Given the description of an element on the screen output the (x, y) to click on. 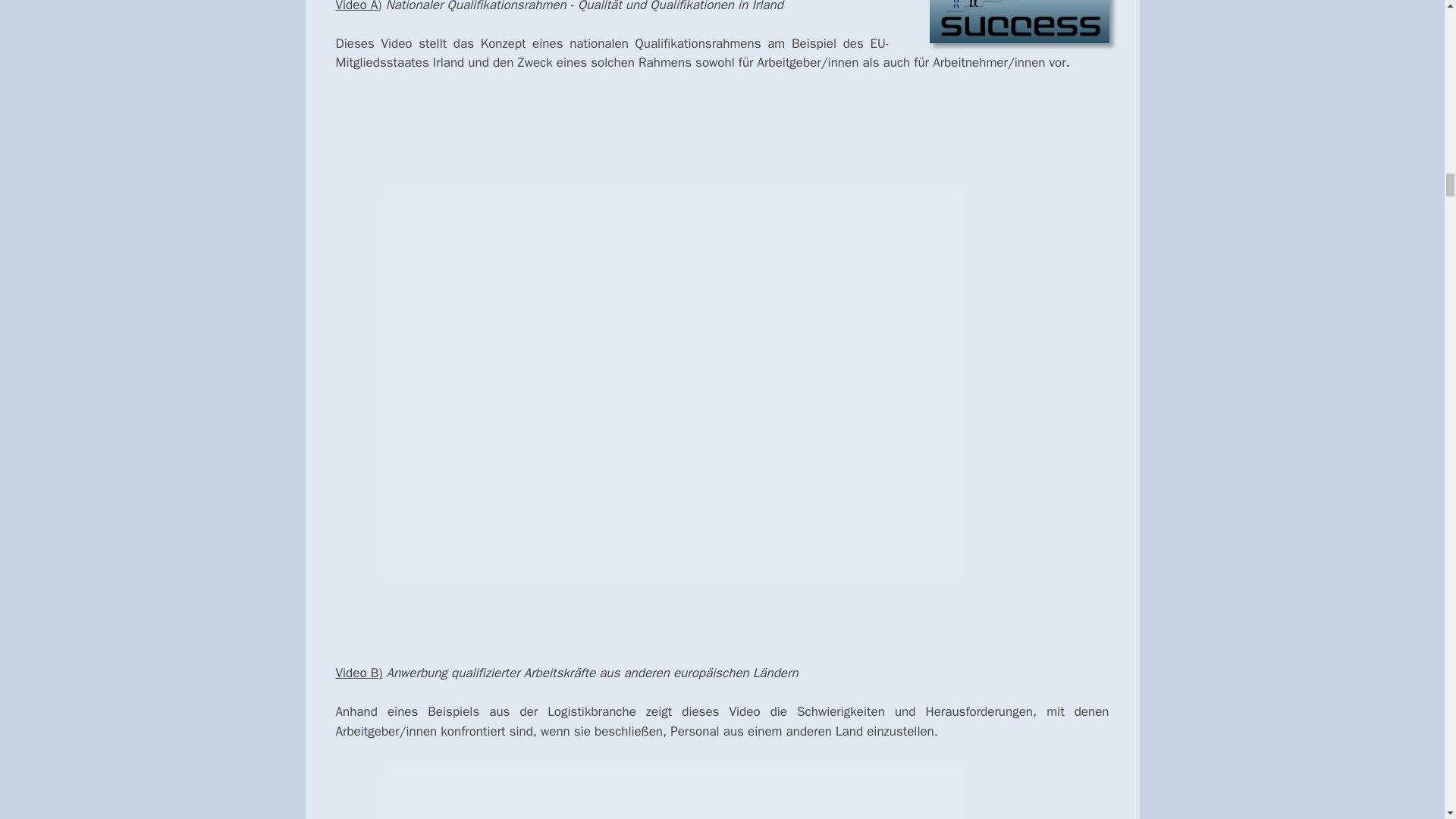
Recruiting qualified workers from other European countries (721, 809)
